Given the description of an element on the screen output the (x, y) to click on. 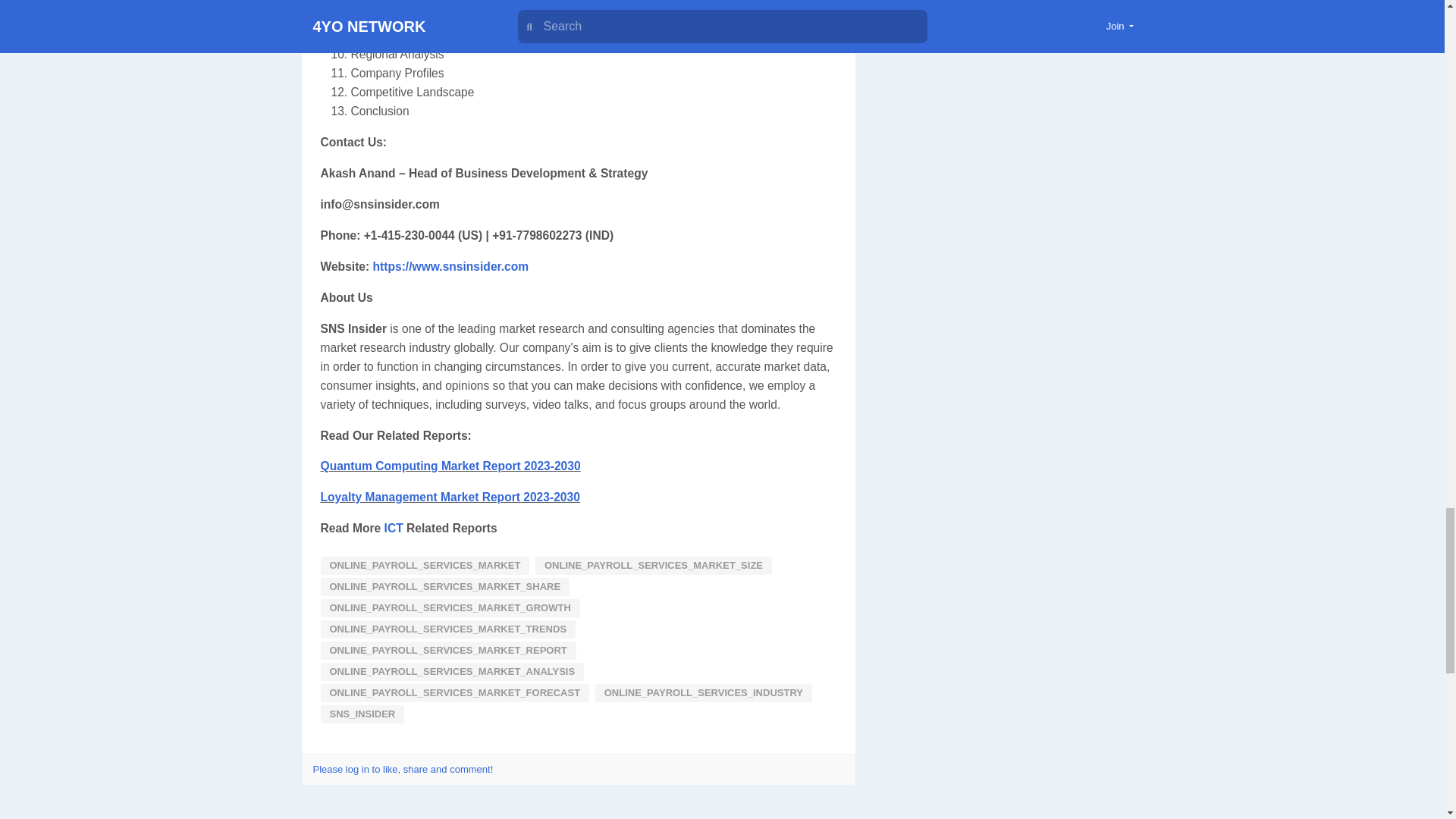
Loyalty Management Market Report 2023-2030 (449, 496)
ICT (393, 527)
Quantum Computing Market Report 2023-2030 (449, 465)
